Given the description of an element on the screen output the (x, y) to click on. 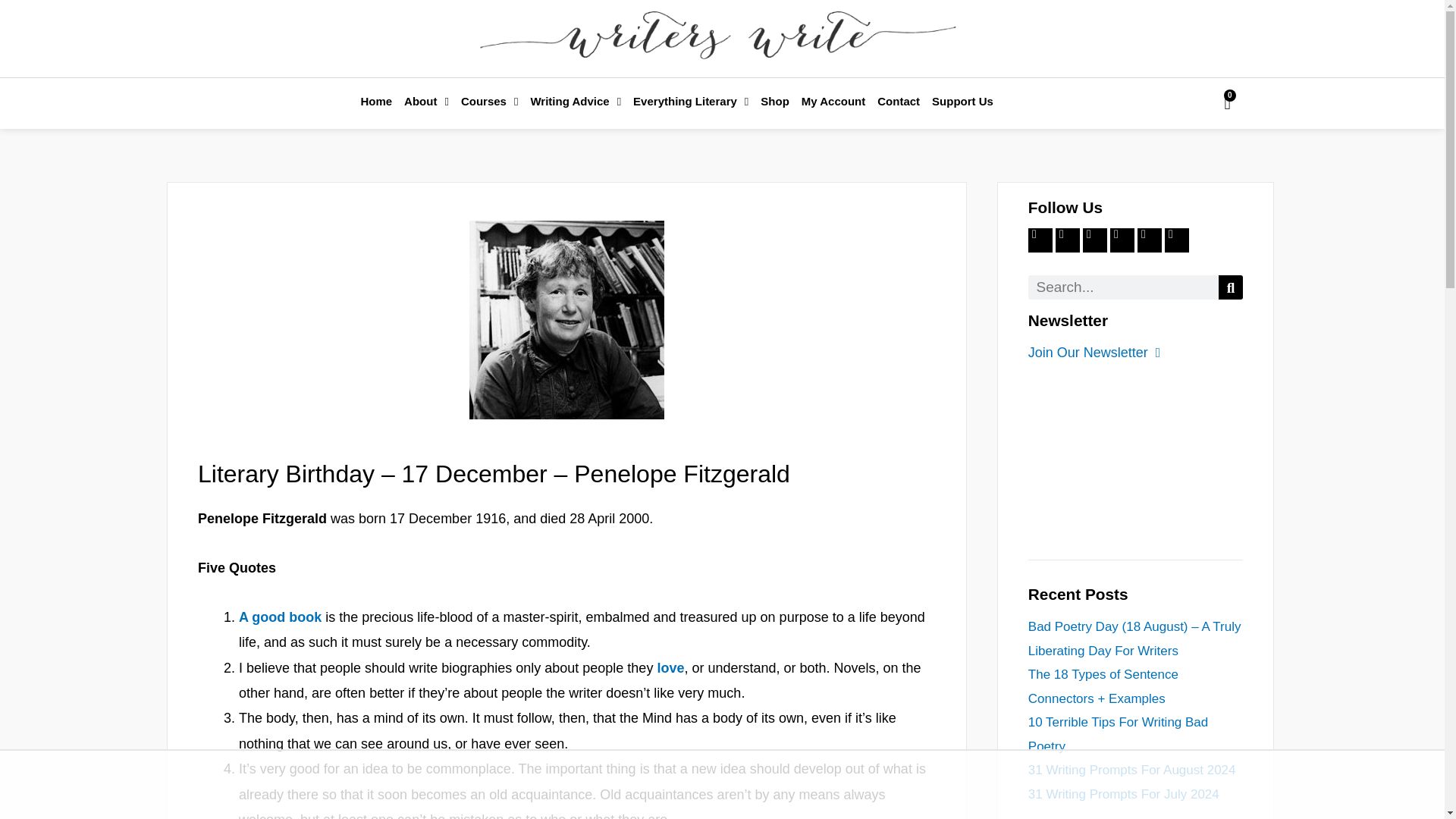
Contact (898, 101)
Home (375, 101)
About (425, 101)
Courses (489, 101)
Support Us (962, 101)
Everything Literary (690, 101)
Shop (774, 101)
My Account (832, 101)
Writing Advice (575, 101)
